Given the description of an element on the screen output the (x, y) to click on. 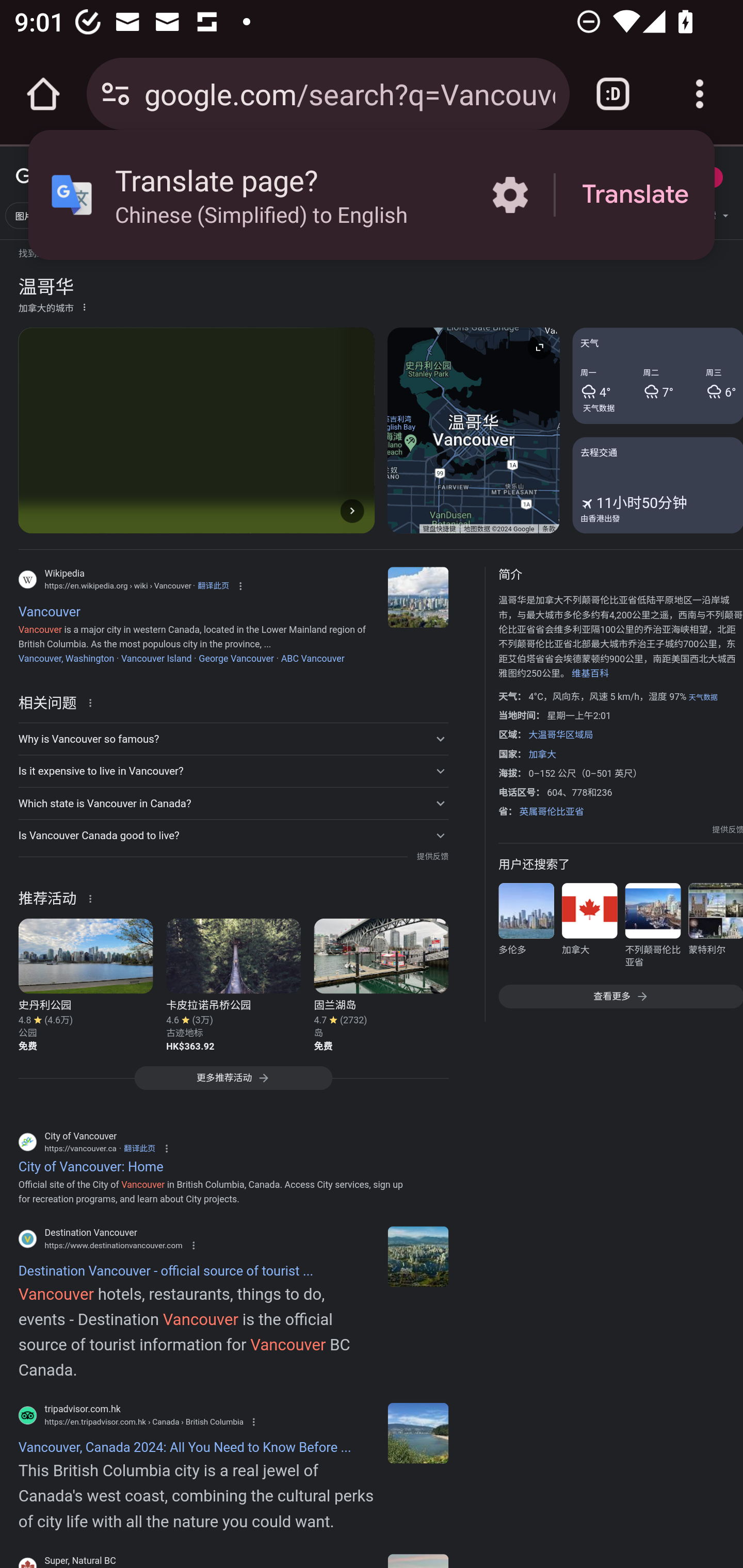
Open the home page (43, 93)
Connection is secure (115, 93)
Switch or close tabs (612, 93)
Customize and control Google Chrome (699, 93)
Translate (634, 195)
More options in the Translate page? (509, 195)
更多选项 (84, 306)
天气 周一 高温 4 度 周二 高温 7 度 周三 高温 6 度 (657, 375)
展开地图 (539, 346)
天气数据 (599, 407)
去程交通 11小时50分钟 乘坐飞机 由香港出發 (657, 484)
下一张图片 (352, 510)
Vancouver (417, 597)
翻译此页 (212, 585)
Vancouver, Washington (65, 658)
Vancouver Island (155, 658)
George Vancouver (236, 658)
ABC Vancouver (312, 658)
维基百科 (590, 672)
天气数据 (703, 697)
关于这条结果的详细信息 (93, 701)
Why is Vancouver so famous? (232, 738)
大温哥华区域局 (560, 734)
加拿大 (541, 753)
Is it expensive to live in Vancouver? (232, 770)
Which state is Vancouver in Canada? (232, 803)
英属哥伦比亚省 (551, 810)
Is Vancouver Canada good to live? (232, 835)
提供反馈 (727, 829)
提供反馈 (432, 856)
多伦多 (526, 927)
加拿大 (588, 927)
不列颠哥伦比亚省 (652, 927)
蒙特利尔 (715, 927)
关于这条结果的详细信息 (93, 897)
查看更多 查看更多 查看更多 (620, 996)
更多推荐活动 (232, 1082)
翻译此页 (139, 1148)
www.destinationvancouver (417, 1256)
